Given the description of an element on the screen output the (x, y) to click on. 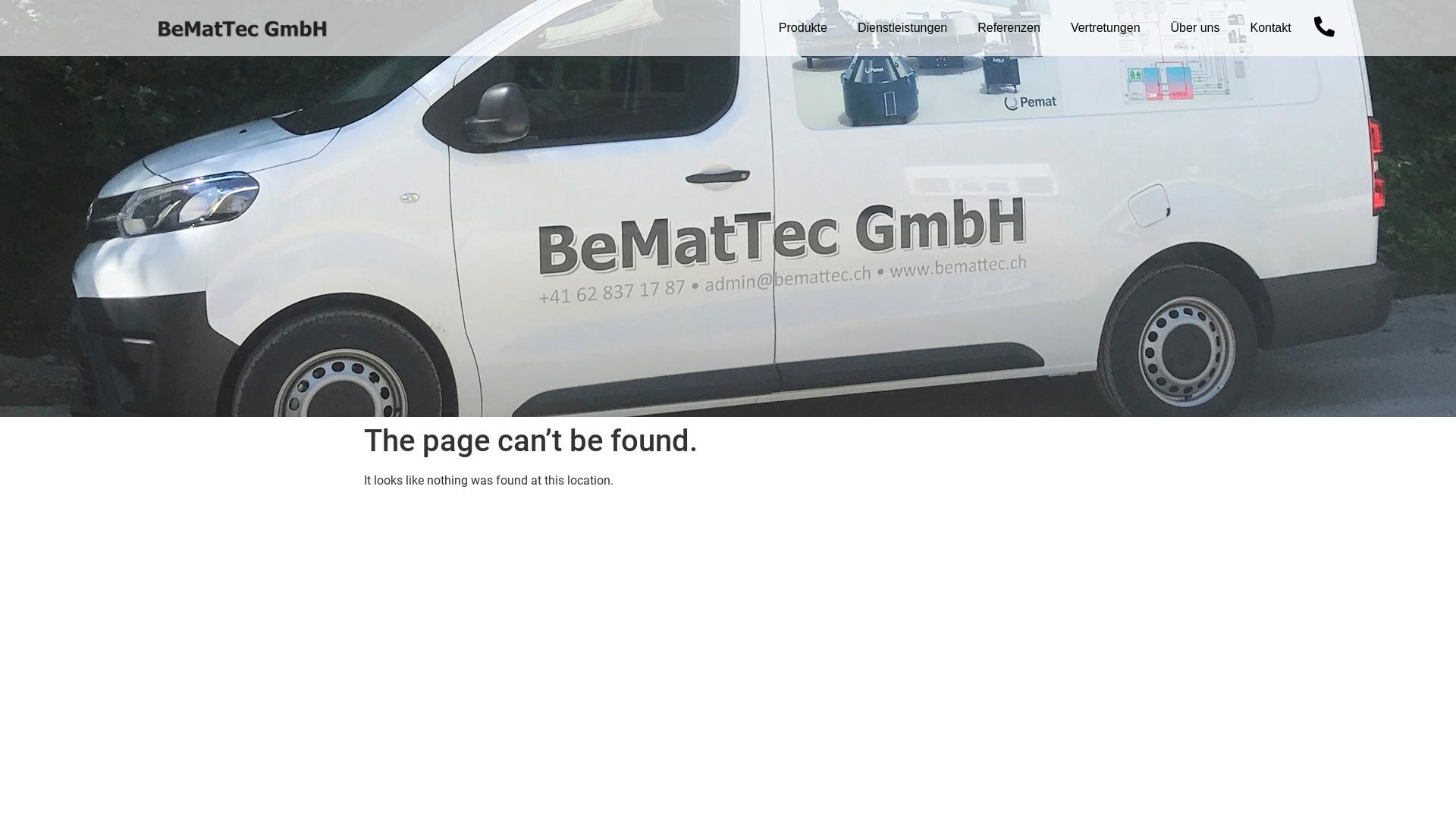
Produkte Element type: text (802, 27)
Referenzen Element type: text (1008, 27)
Dienstleistungen Element type: text (902, 27)
Vertretungen Element type: text (1105, 27)
Kontakt Element type: text (1269, 27)
